Given the description of an element on the screen output the (x, y) to click on. 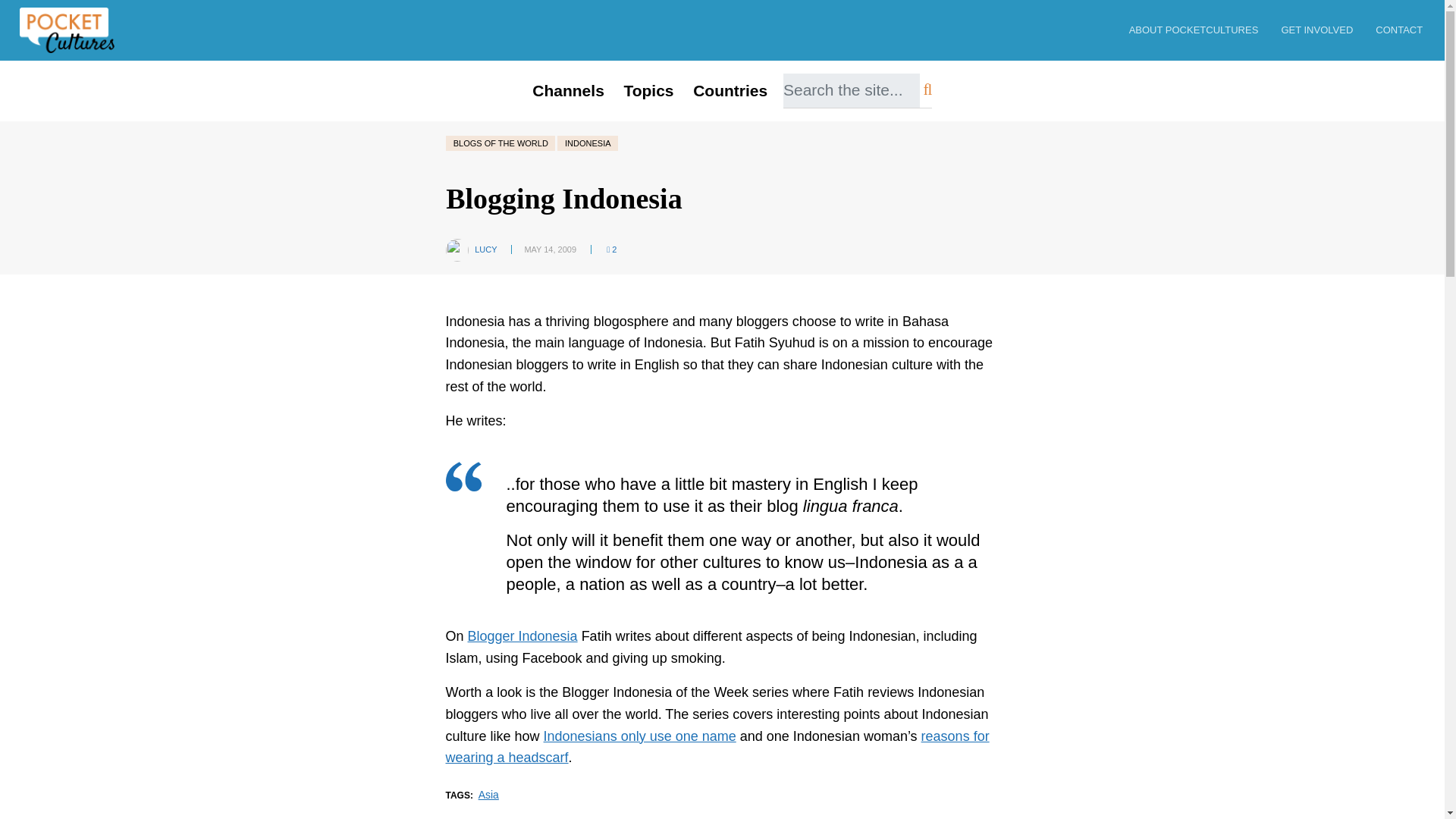
ABOUT POCKETCULTURES (1193, 30)
Channels (568, 90)
Posts by Lucy (485, 248)
CONTACT (1399, 30)
GET INVOLVED (1316, 30)
Topics (649, 90)
PocketCultures (67, 30)
Countries (729, 90)
